Given the description of an element on the screen output the (x, y) to click on. 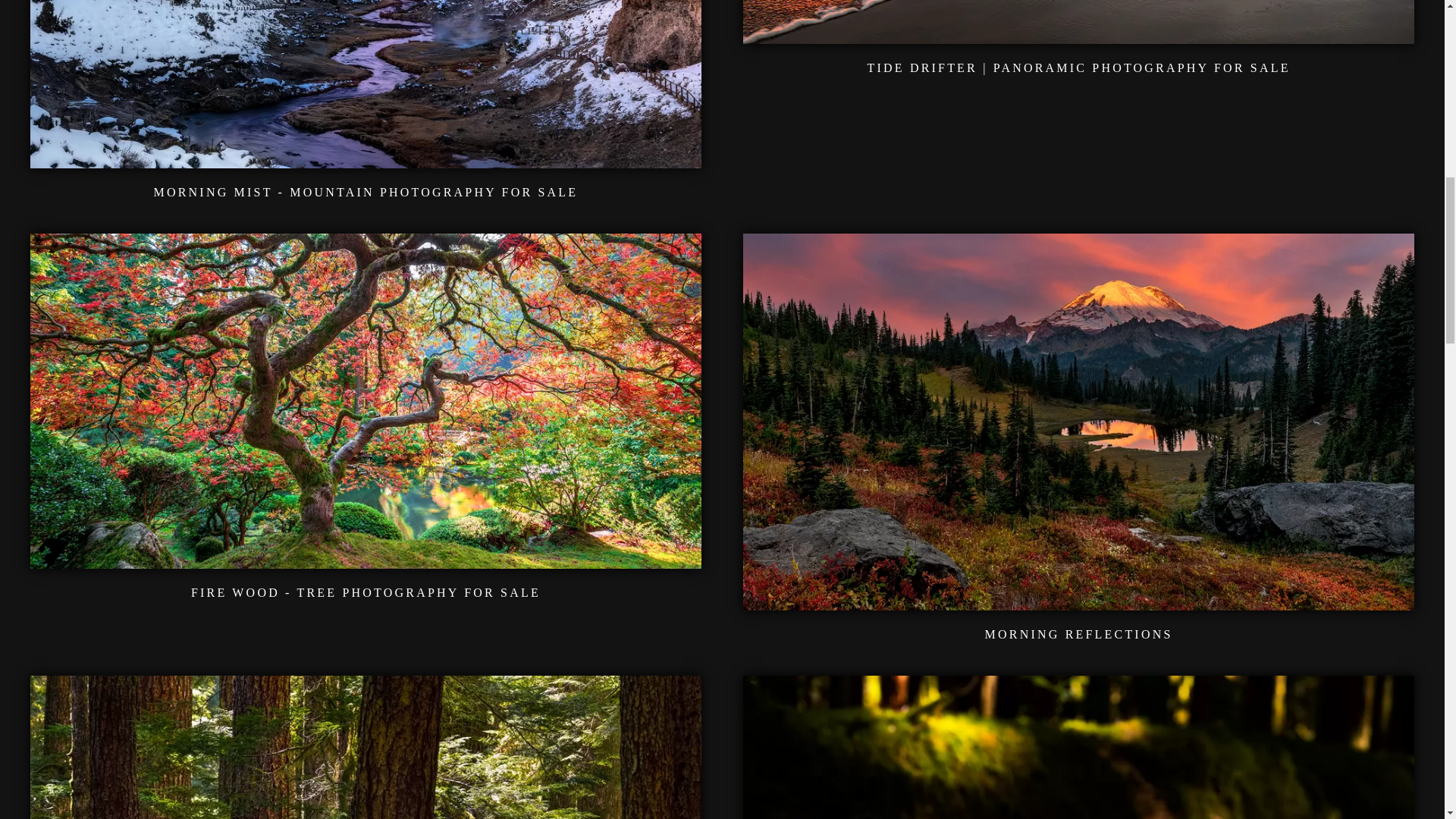
Fire Wood - Tree Photography For Sale  (365, 558)
morning mist - mountain photography for sale  (365, 158)
Morning Reflections  (1079, 634)
MORNING MIST - MOUNTAIN PHOTOGRAPHY FOR SALE (366, 192)
Morning Reflections  (1077, 600)
MORNING REFLECTIONS (1079, 634)
Fire Wood - Tree Photography For Sale  (365, 592)
FIRE WOOD - TREE PHOTOGRAPHY FOR SALE (365, 592)
morning mist - mountain photography for sale  (366, 192)
